Given the description of an element on the screen output the (x, y) to click on. 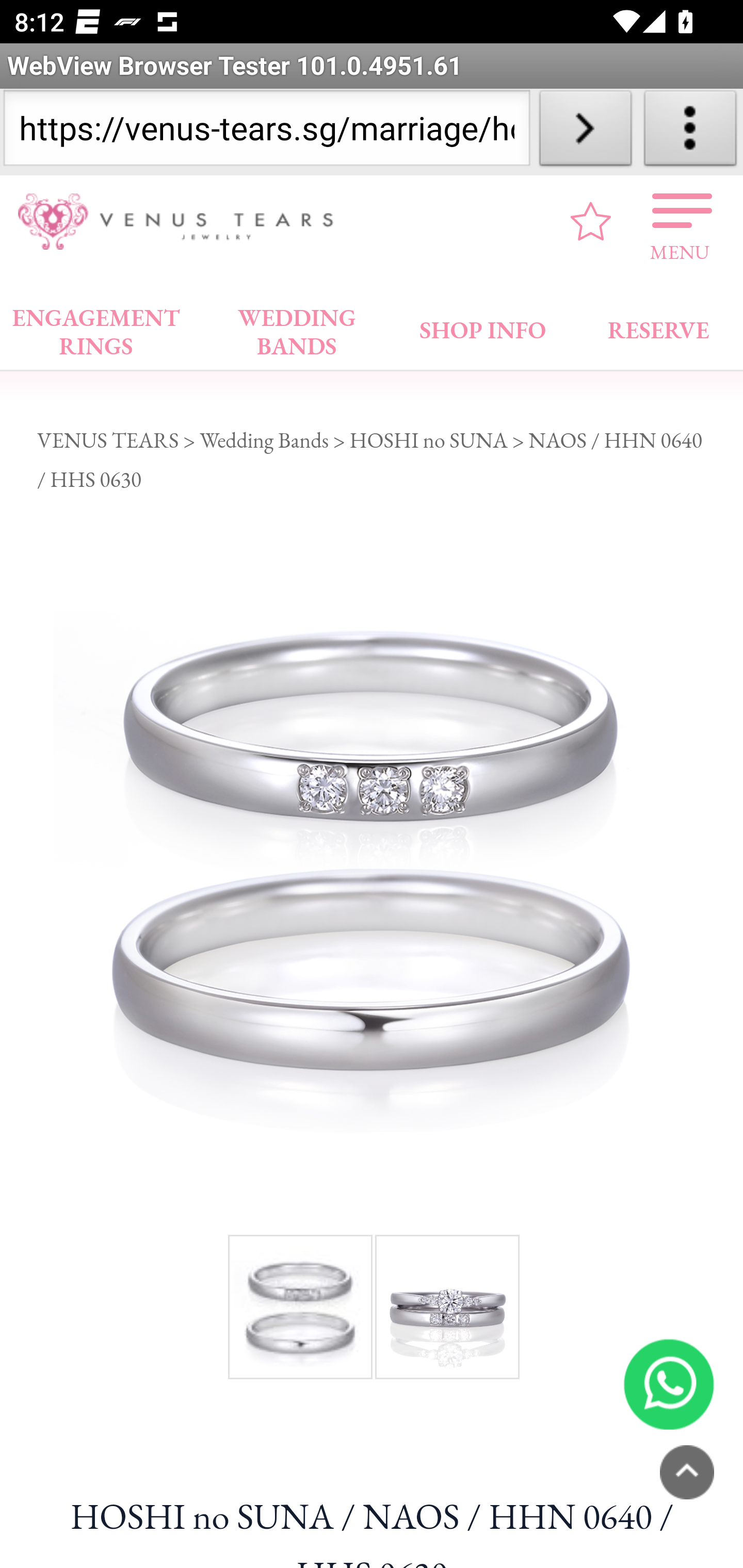
Load URL (585, 132)
About WebView (690, 132)
favourite (591, 220)
MENU (680, 220)
VENUS TEARS (181, 221)
ENGAGEMENT RINGS ENGAGEMENT RINGS (96, 326)
WEDDING BANDS WEDDING BANDS (296, 326)
SHOP INFO (482, 325)
RESERVE (657, 325)
VENUS TEARS (108, 439)
Wedding Bands (263, 439)
6585184875 (668, 1383)
PAGETOP (686, 1472)
